Given the description of an element on the screen output the (x, y) to click on. 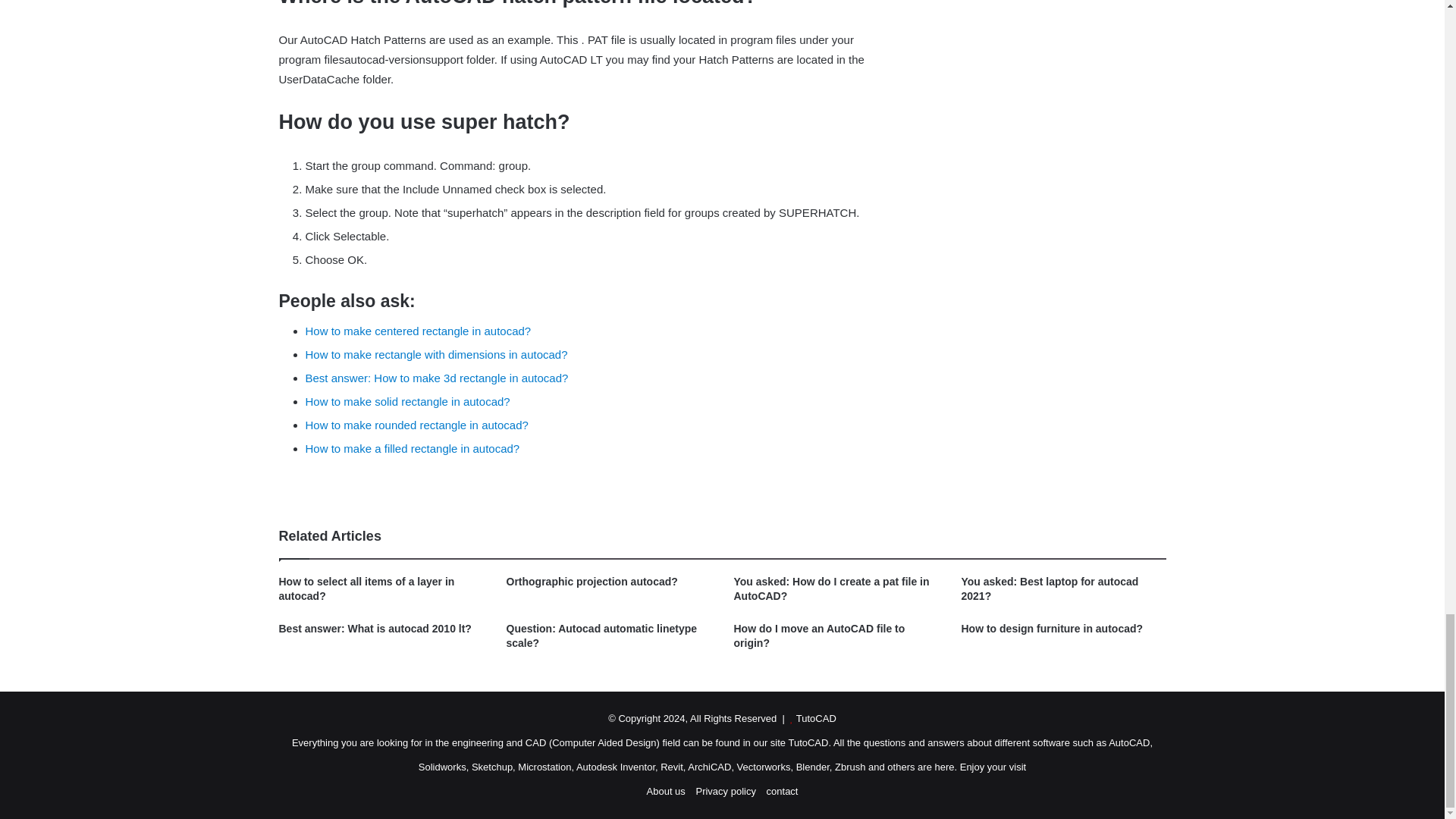
How to make solid rectangle in autocad? (406, 400)
Best answer: How to make 3d rectangle in autocad? (435, 377)
How to make rectangle with dimensions in autocad? (435, 354)
How to make rounded rectangle in autocad? (415, 424)
How to make centered rectangle in autocad? (417, 330)
How to make a filled rectangle in autocad? (411, 448)
